Given the description of an element on the screen output the (x, y) to click on. 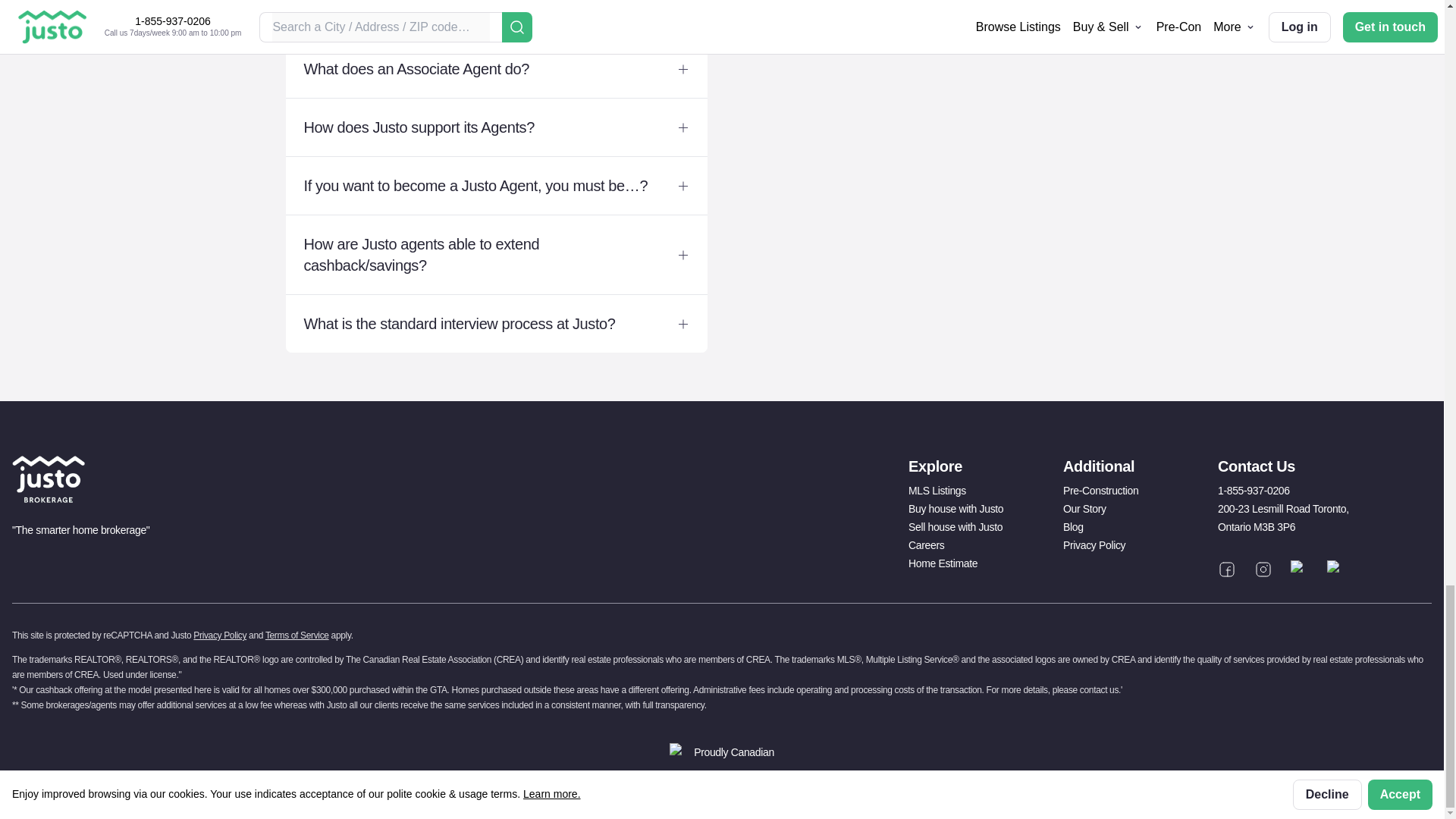
Is there a monthly fee that I have to pay Justo? (495, 19)
Will my Justo agent be experienced in selling real estate? (947, 13)
What does an Associate Agent do? (495, 68)
What is the standard interview process at Justo? (495, 323)
How does Justo support its Agents? (495, 127)
